Given the description of an element on the screen output the (x, y) to click on. 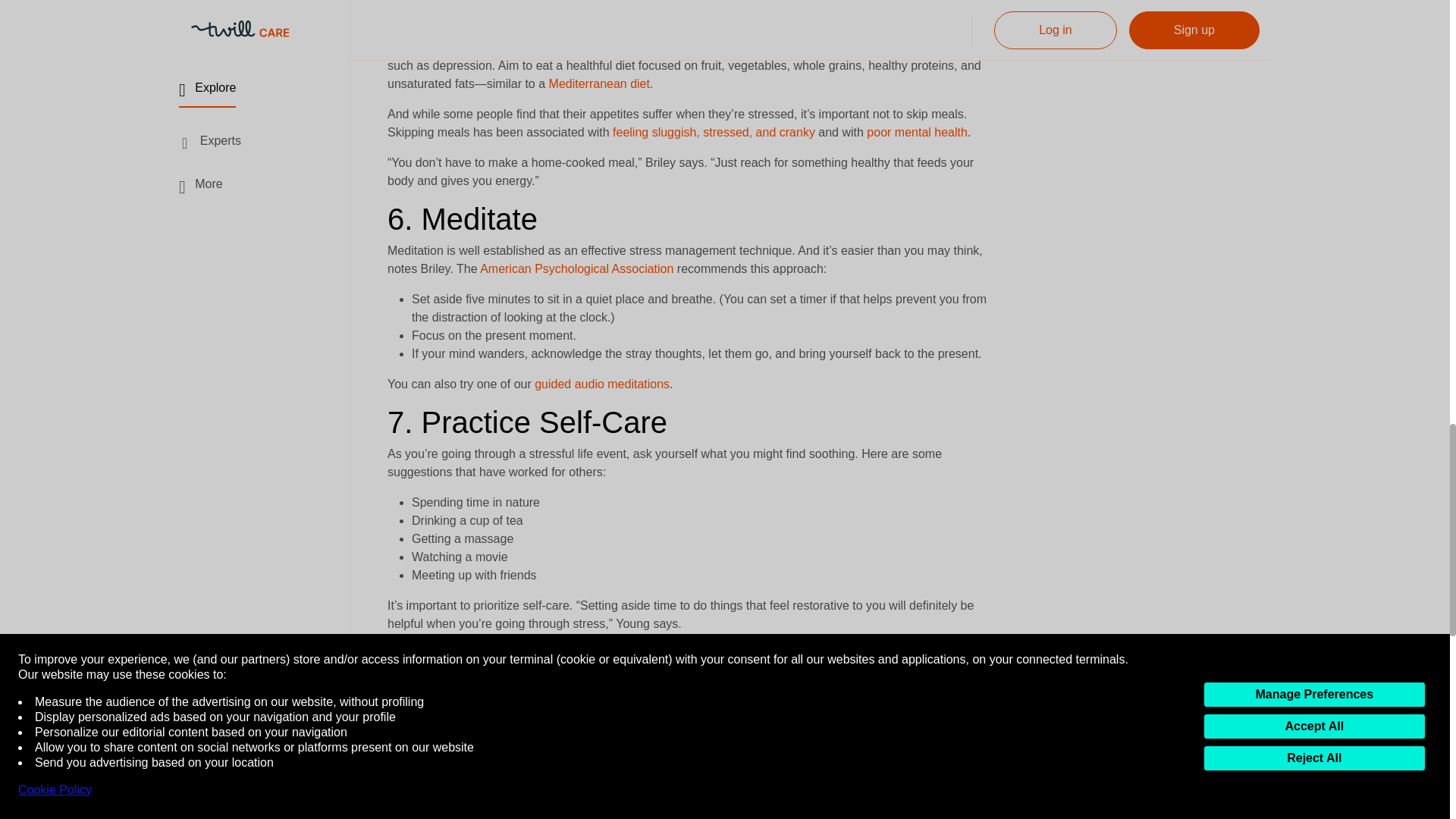
research suggests (490, 29)
feeling sluggish, stressed, and cranky (713, 132)
Mediterranean diet (598, 83)
poor mental health (917, 132)
